Given the description of an element on the screen output the (x, y) to click on. 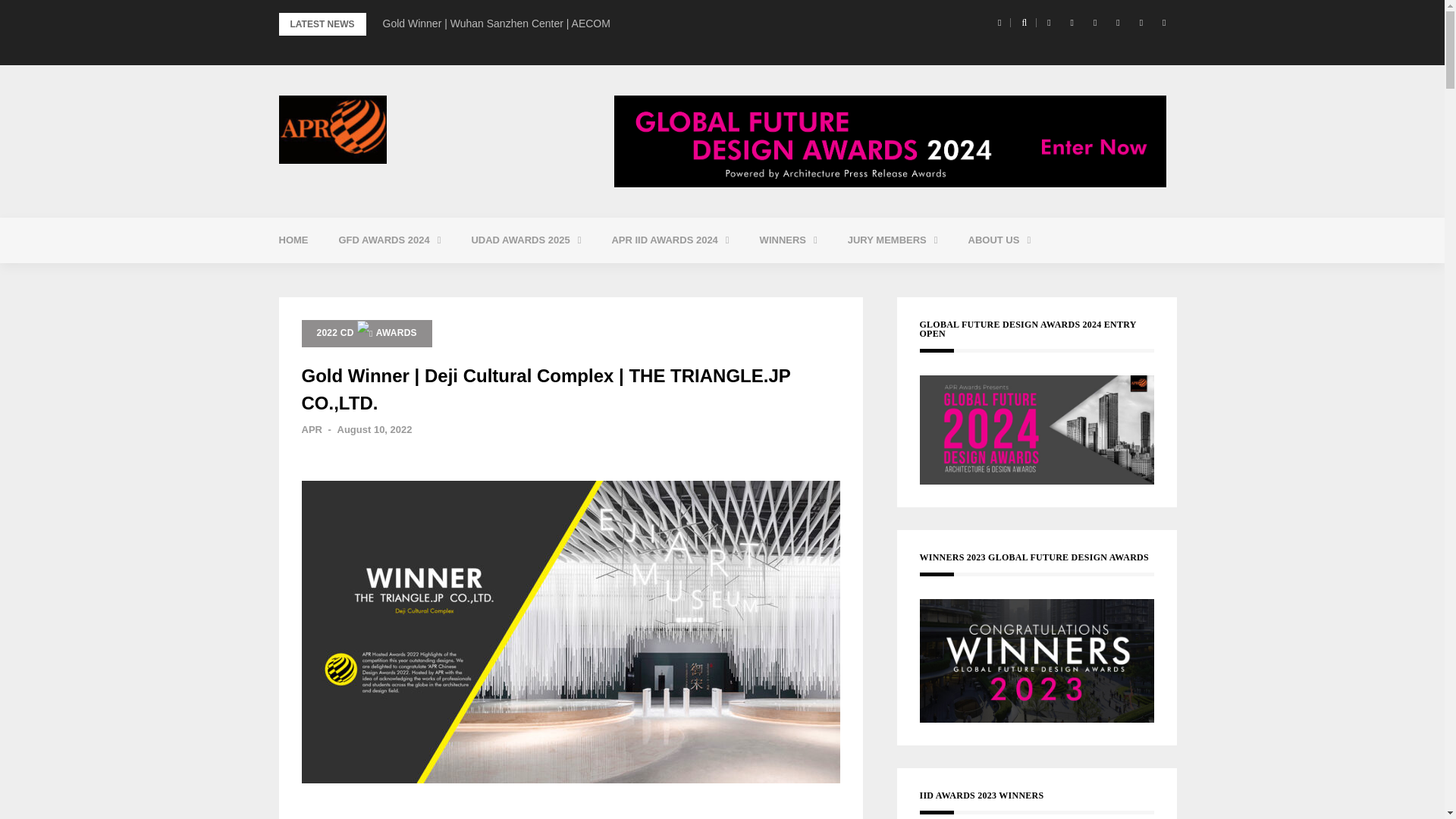
Home (293, 239)
GFD AWARDS 2024 (389, 239)
GFD Awards Brief (425, 277)
HOME (293, 239)
